Given the description of an element on the screen output the (x, y) to click on. 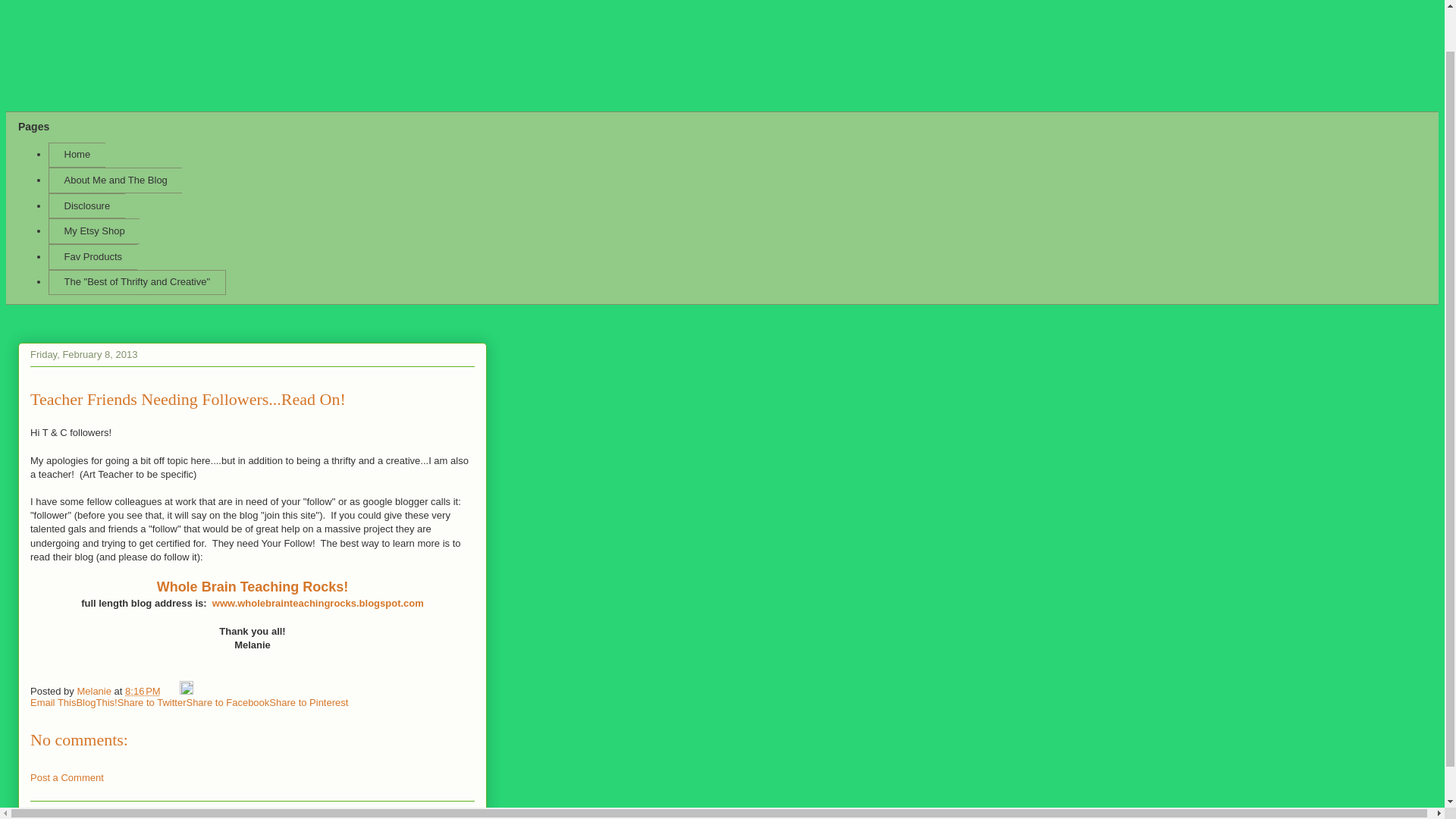
Edit Post (186, 690)
Share to Twitter (151, 702)
Share to Twitter (151, 702)
Share to Facebook (227, 702)
Disclosure (86, 206)
author profile (95, 690)
Post a Comment (66, 777)
Fav Products (92, 257)
permanent link (142, 690)
My Etsy Shop (93, 231)
www.wholebrainteachingrocks.blogspot.com (317, 603)
Email This (52, 702)
About Me and The Blog (115, 180)
BlogThis! (95, 702)
